Given the description of an element on the screen output the (x, y) to click on. 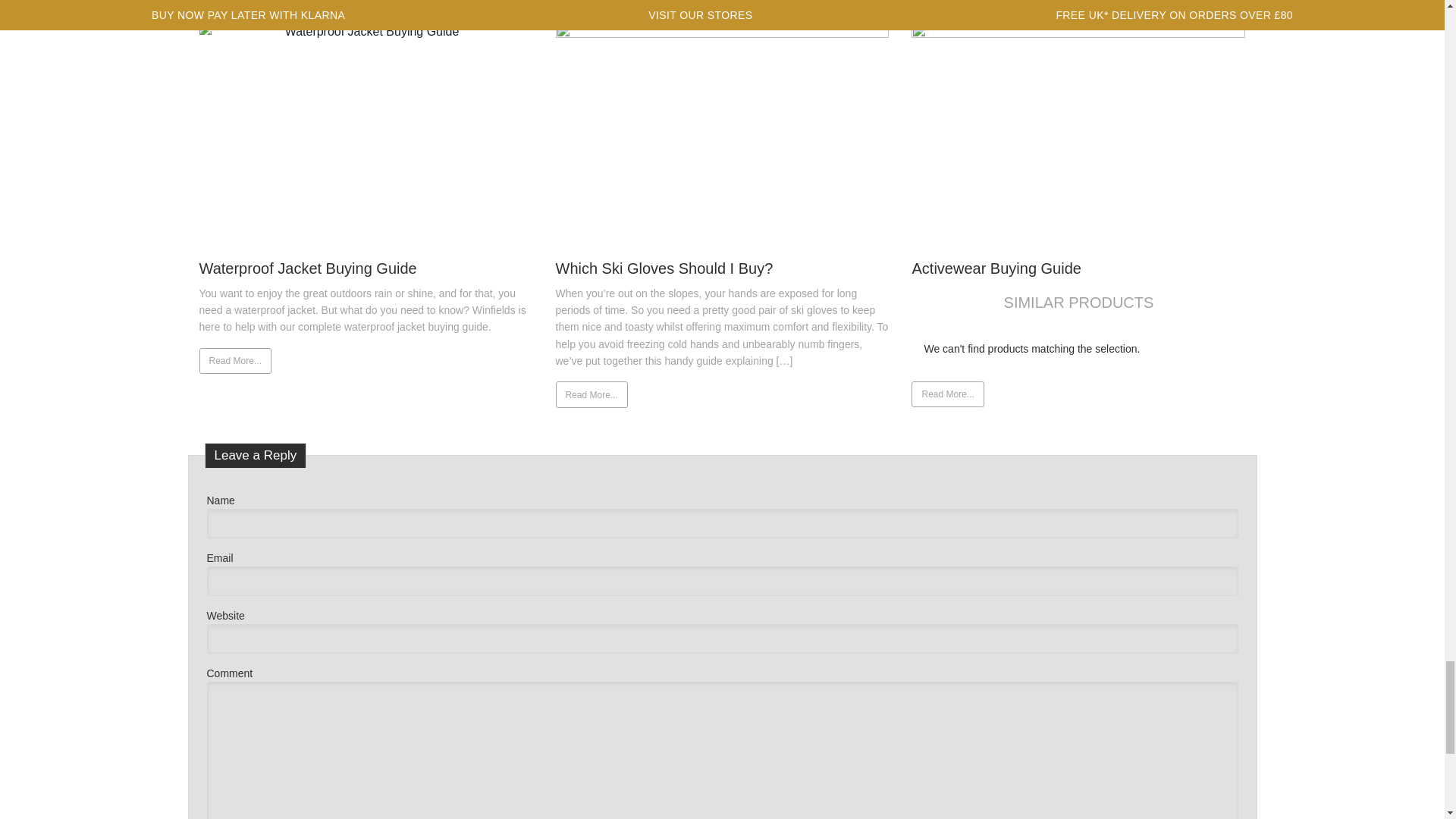
Which Ski Gloves Should I Buy? (663, 267)
Which Ski Gloves Should I Buy? (721, 132)
Activewear Buying Guide (995, 267)
Waterproof Jacket Buying Guide (365, 132)
Waterproof Jacket Buying Guide (307, 267)
Activewear Buying Guide (1077, 132)
